Given the description of an element on the screen output the (x, y) to click on. 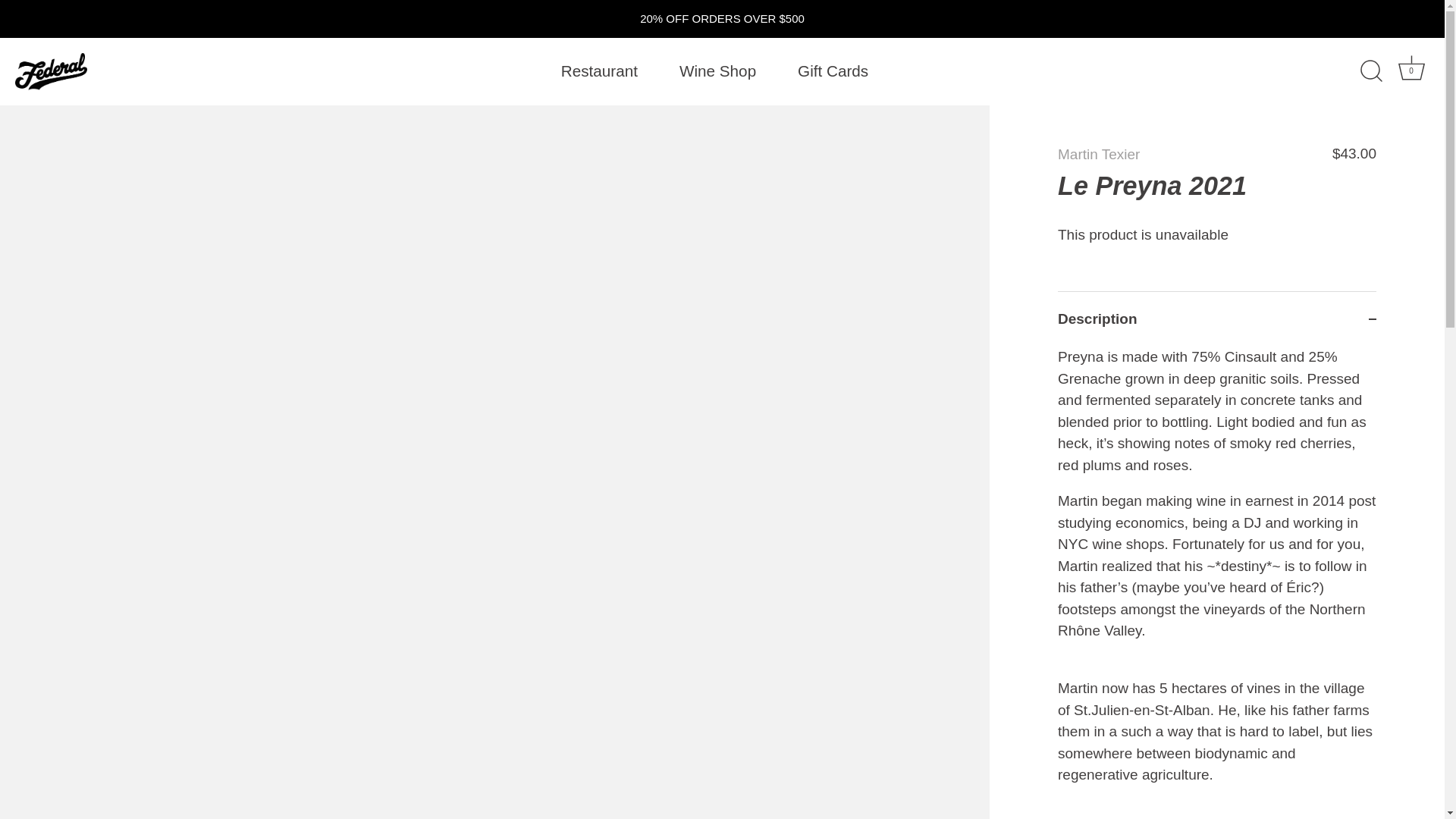
Gift Cards (832, 71)
Cart (1411, 67)
Restaurant (598, 71)
Wine Shop (717, 71)
